Given the description of an element on the screen output the (x, y) to click on. 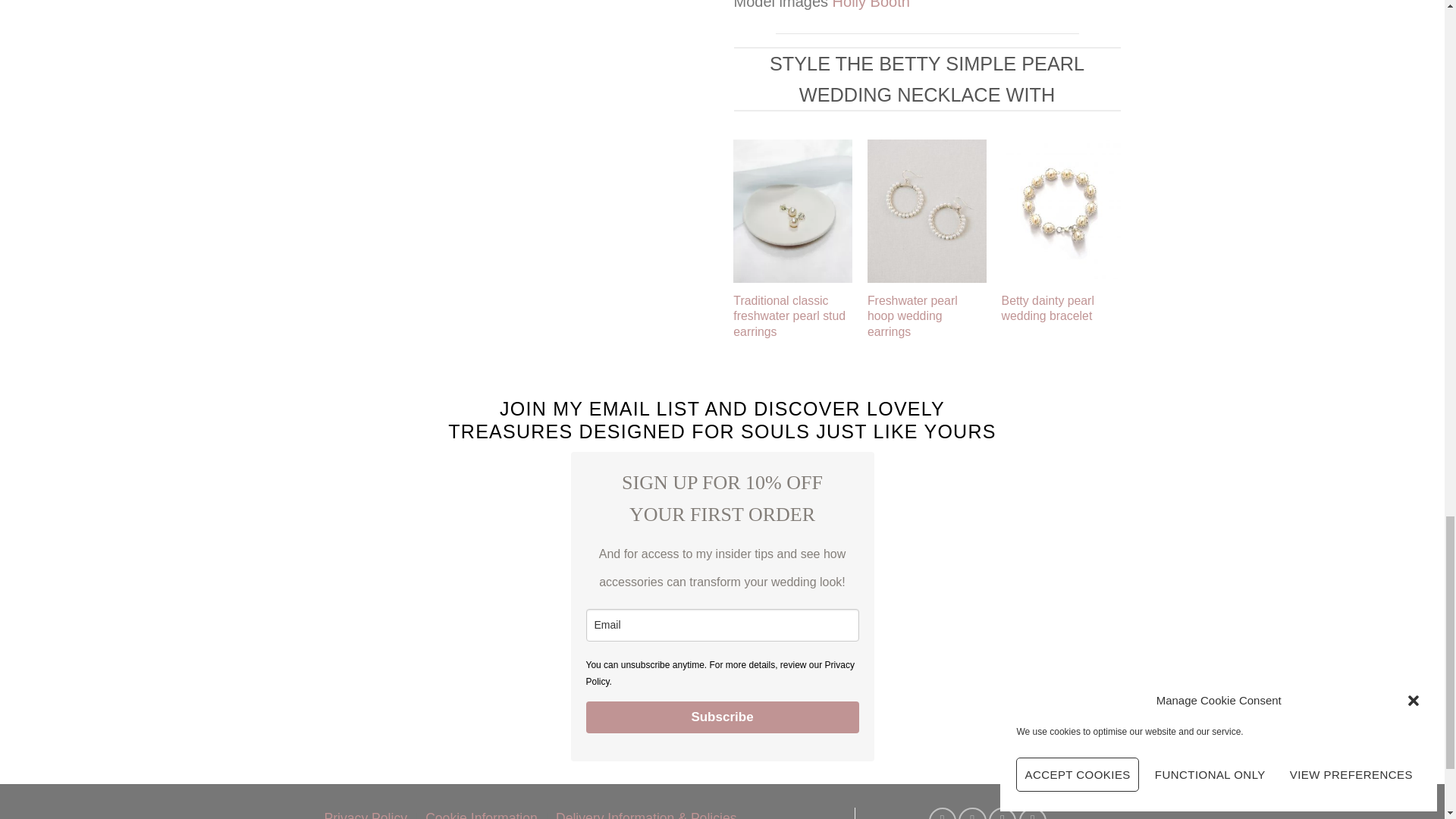
Follow on Pinterest (1032, 813)
Follow on Instagram (971, 813)
Follow on Twitter (1002, 813)
Follow on Facebook (942, 813)
